Given the description of an element on the screen output the (x, y) to click on. 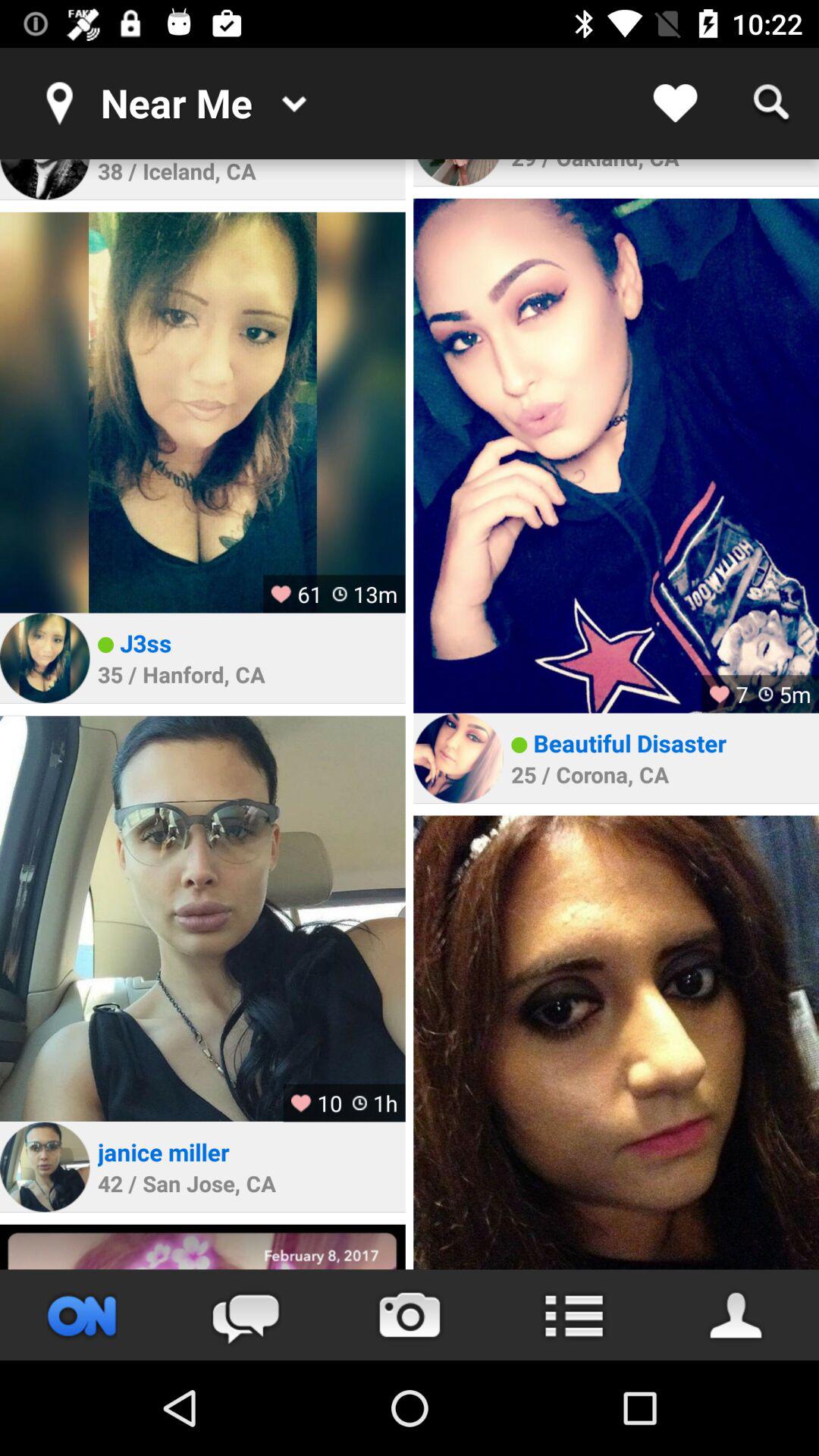
messaging icon (245, 1315)
